Given the description of an element on the screen output the (x, y) to click on. 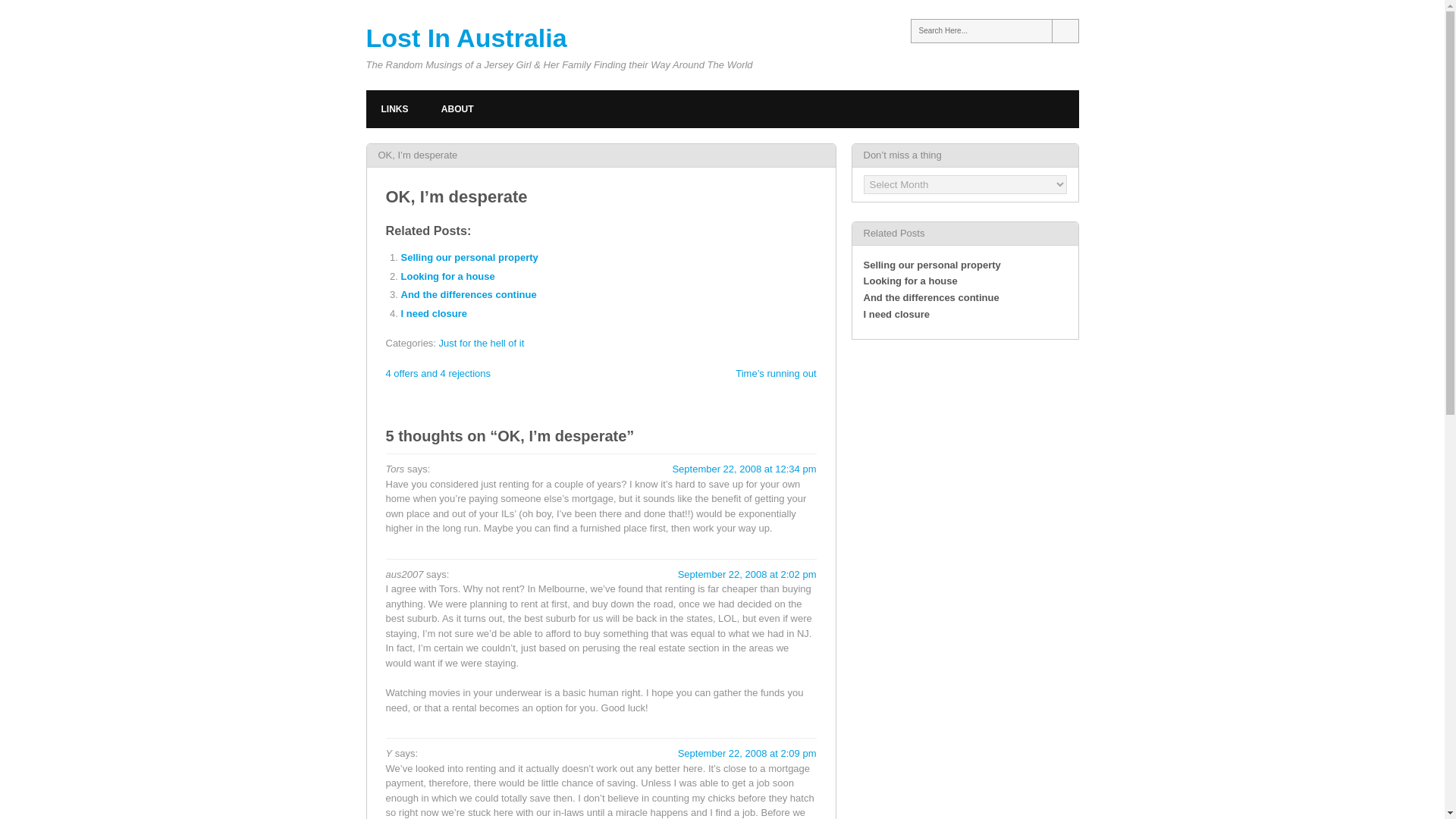
I need closure (895, 314)
I need closure (432, 313)
And the differences continue (467, 294)
I need closure (432, 313)
Looking for a house (447, 276)
September 22, 2008 at 2:09 pm (747, 753)
Looking for a house (447, 276)
LINKS (394, 108)
Just for the hell of it (481, 342)
Selling our personal property (468, 256)
4 offers and 4 rejections (437, 373)
Lost In Australia (465, 37)
Selling our personal property (931, 265)
Looking for a house (909, 280)
And the differences continue (930, 297)
